Given the description of an element on the screen output the (x, y) to click on. 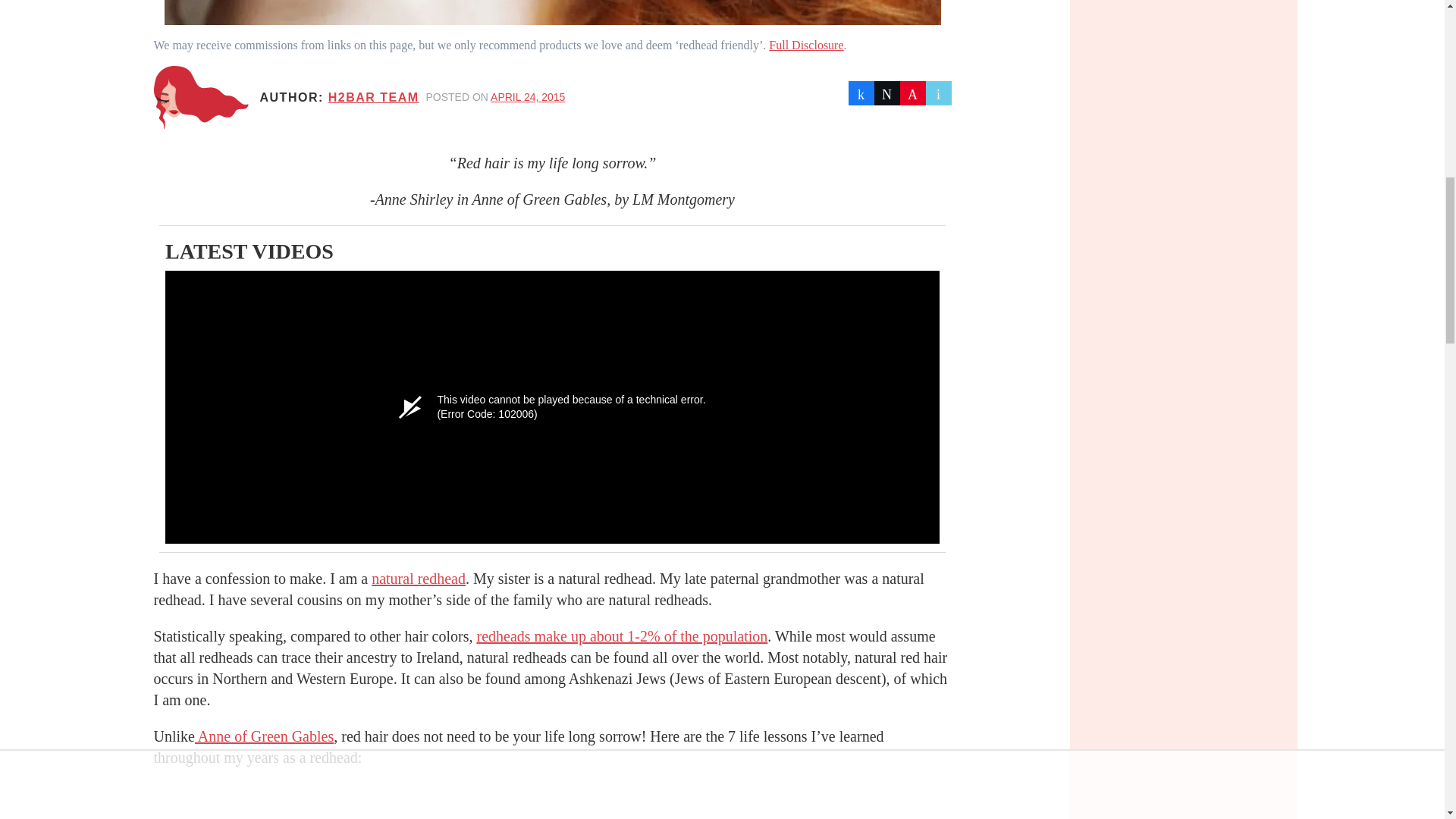
Full Disclosure (805, 44)
